Given the description of an element on the screen output the (x, y) to click on. 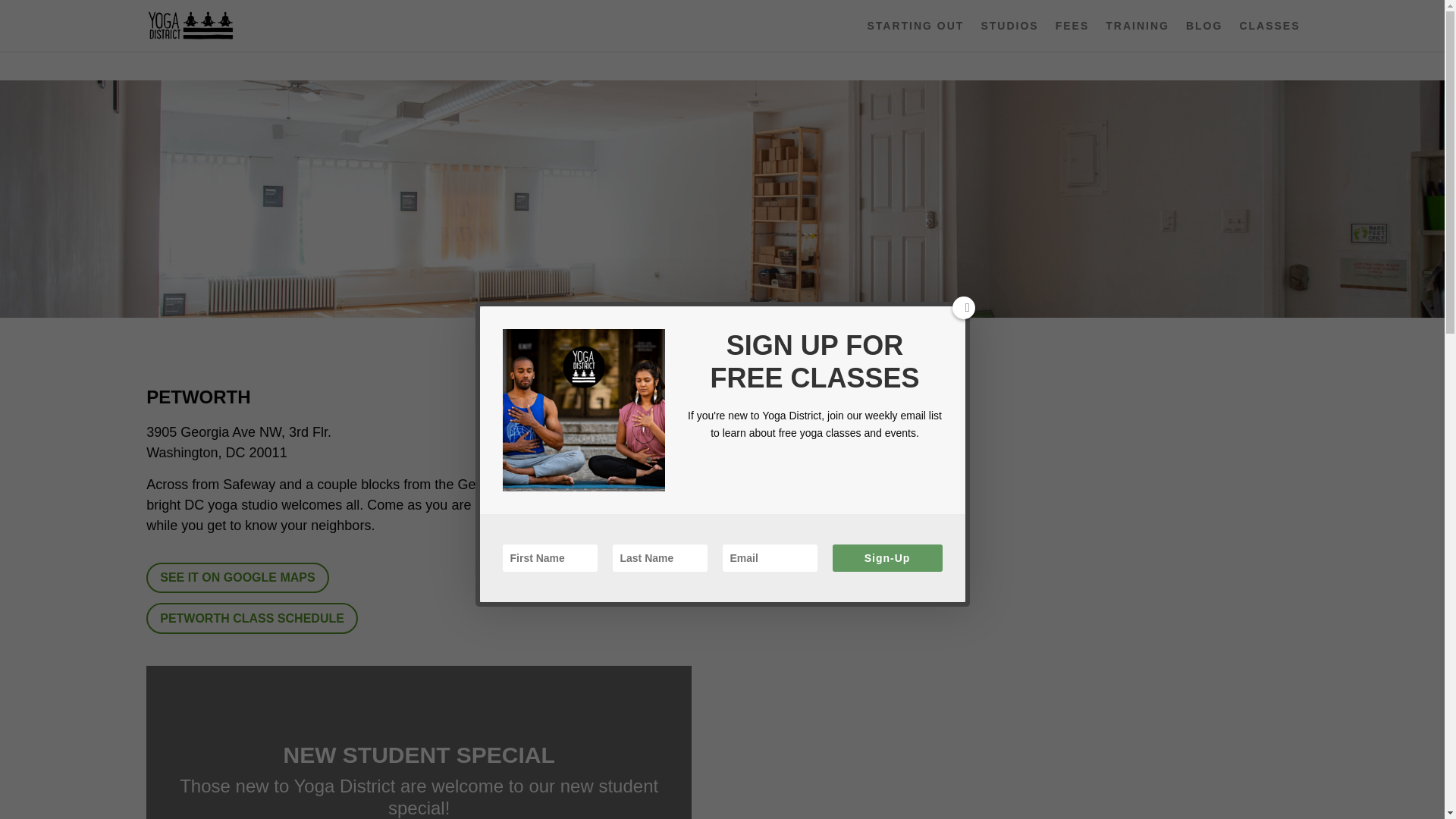
SEE IT ON GOOGLE MAPS (238, 577)
STUDIOS (1008, 35)
FEES (1072, 35)
BLOG (1204, 35)
STARTING OUT (914, 35)
PETWORTH CLASS SCHEDULE (252, 617)
TRAINING (1137, 35)
CLASSES (1269, 35)
